Given the description of an element on the screen output the (x, y) to click on. 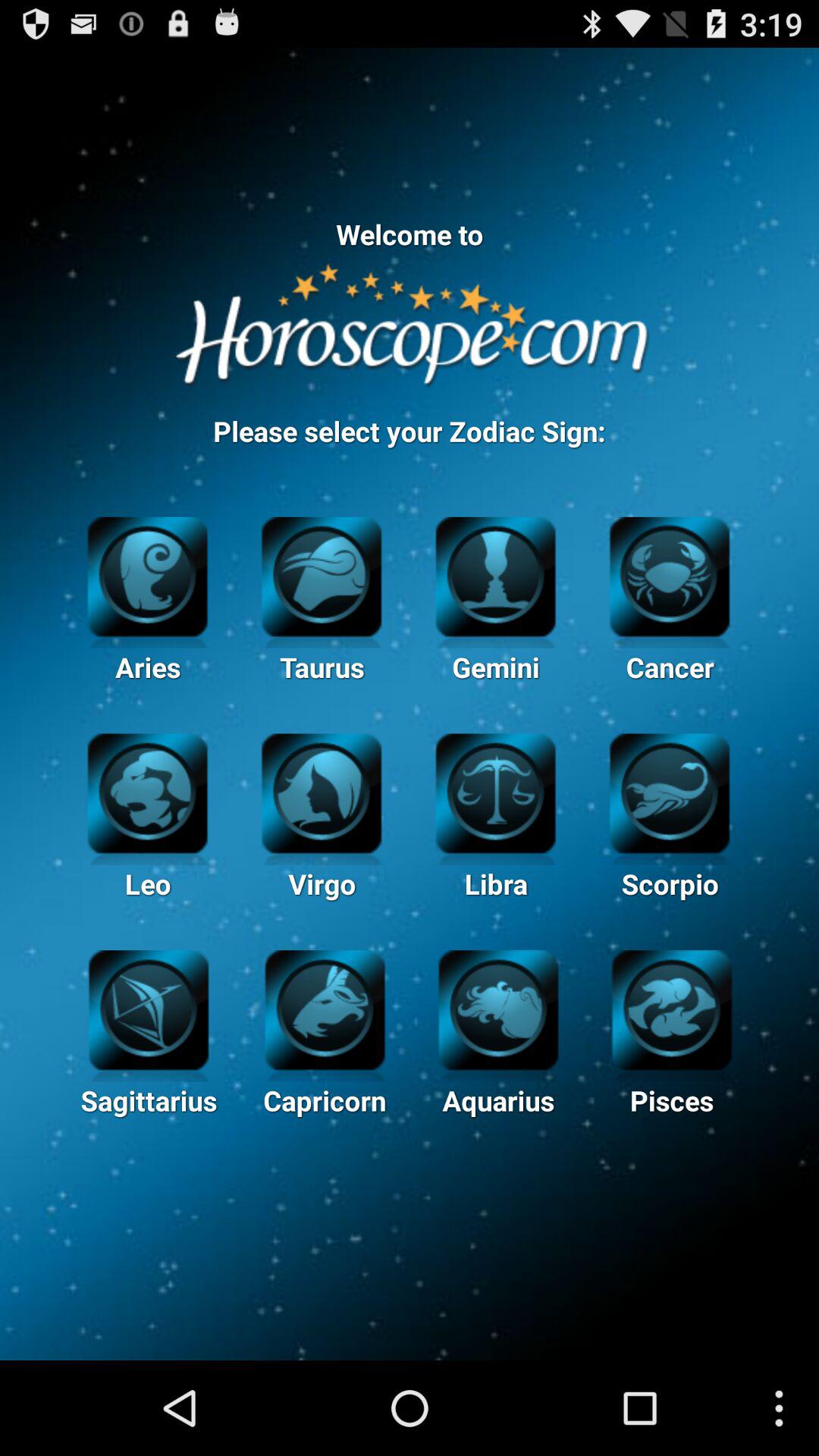
gemini selection (495, 574)
